Given the description of an element on the screen output the (x, y) to click on. 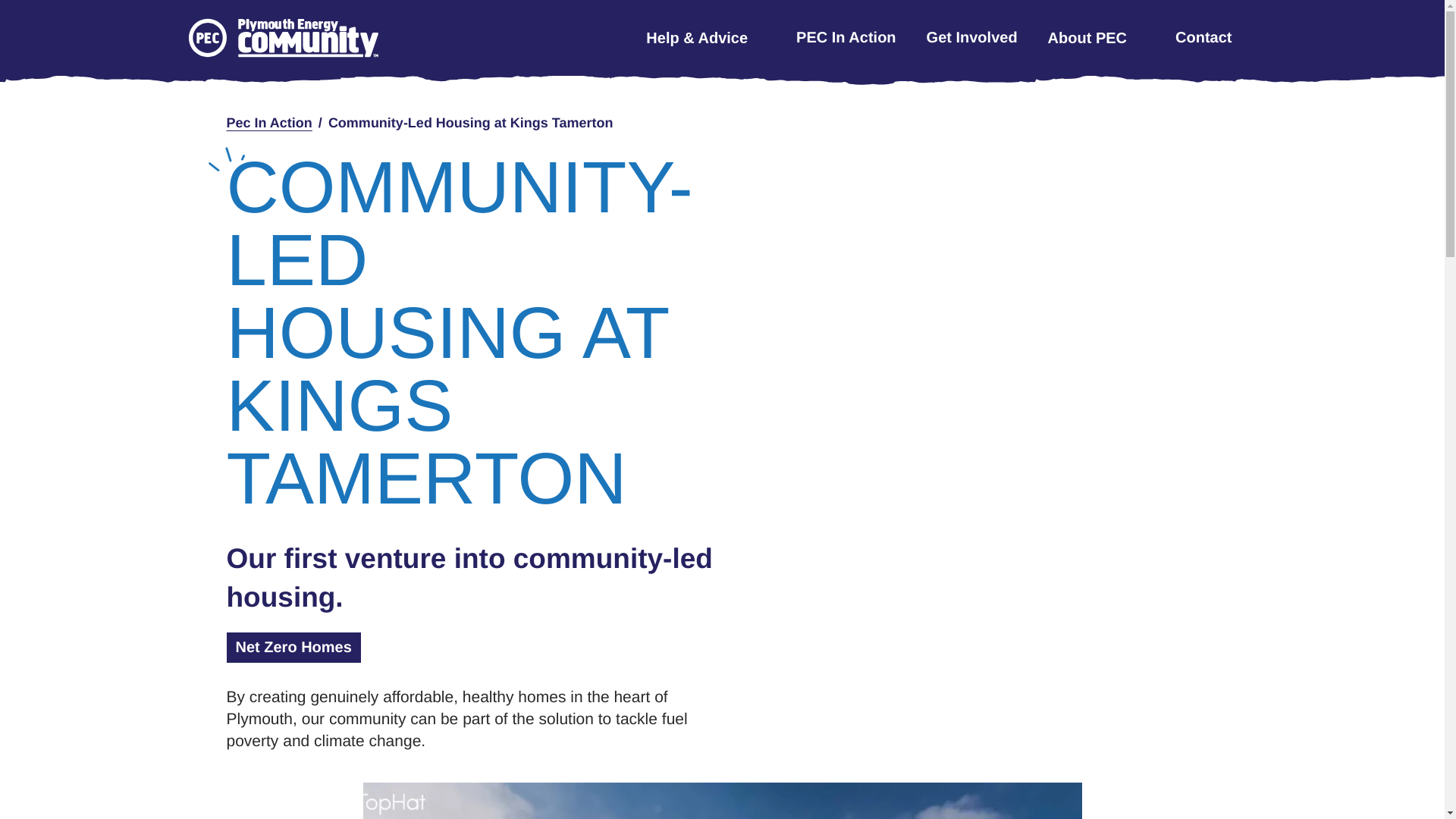
Contact (1202, 36)
Net Zero Homes (292, 647)
About PEC (1096, 37)
Pec In Action (268, 122)
Get Involved (971, 36)
PEC In Action (845, 36)
